Given the description of an element on the screen output the (x, y) to click on. 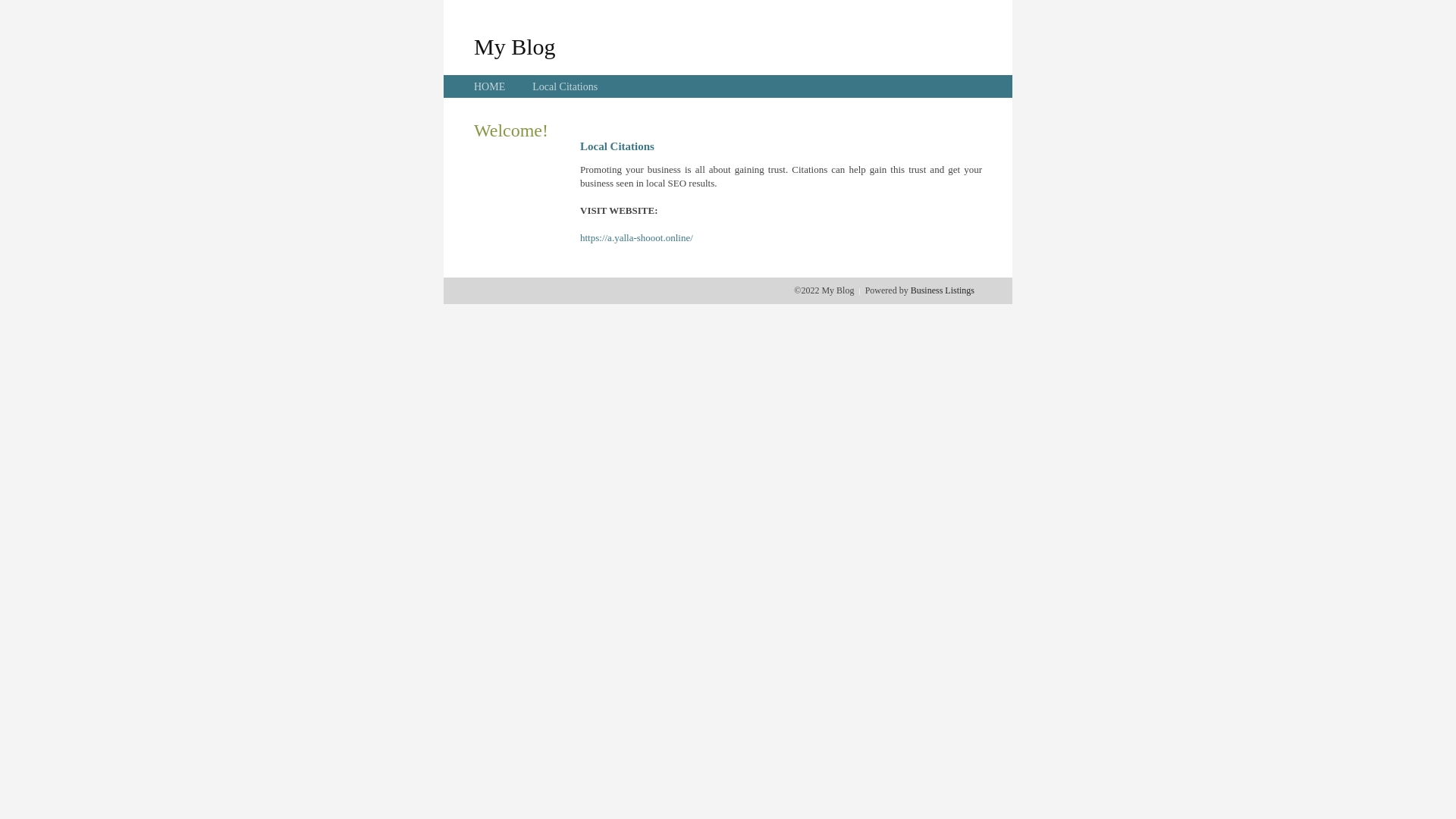
https://a.yalla-shooot.online/ Element type: text (636, 237)
My Blog Element type: text (514, 46)
HOME Element type: text (489, 86)
Local Citations Element type: text (564, 86)
Business Listings Element type: text (942, 290)
